Given the description of an element on the screen output the (x, y) to click on. 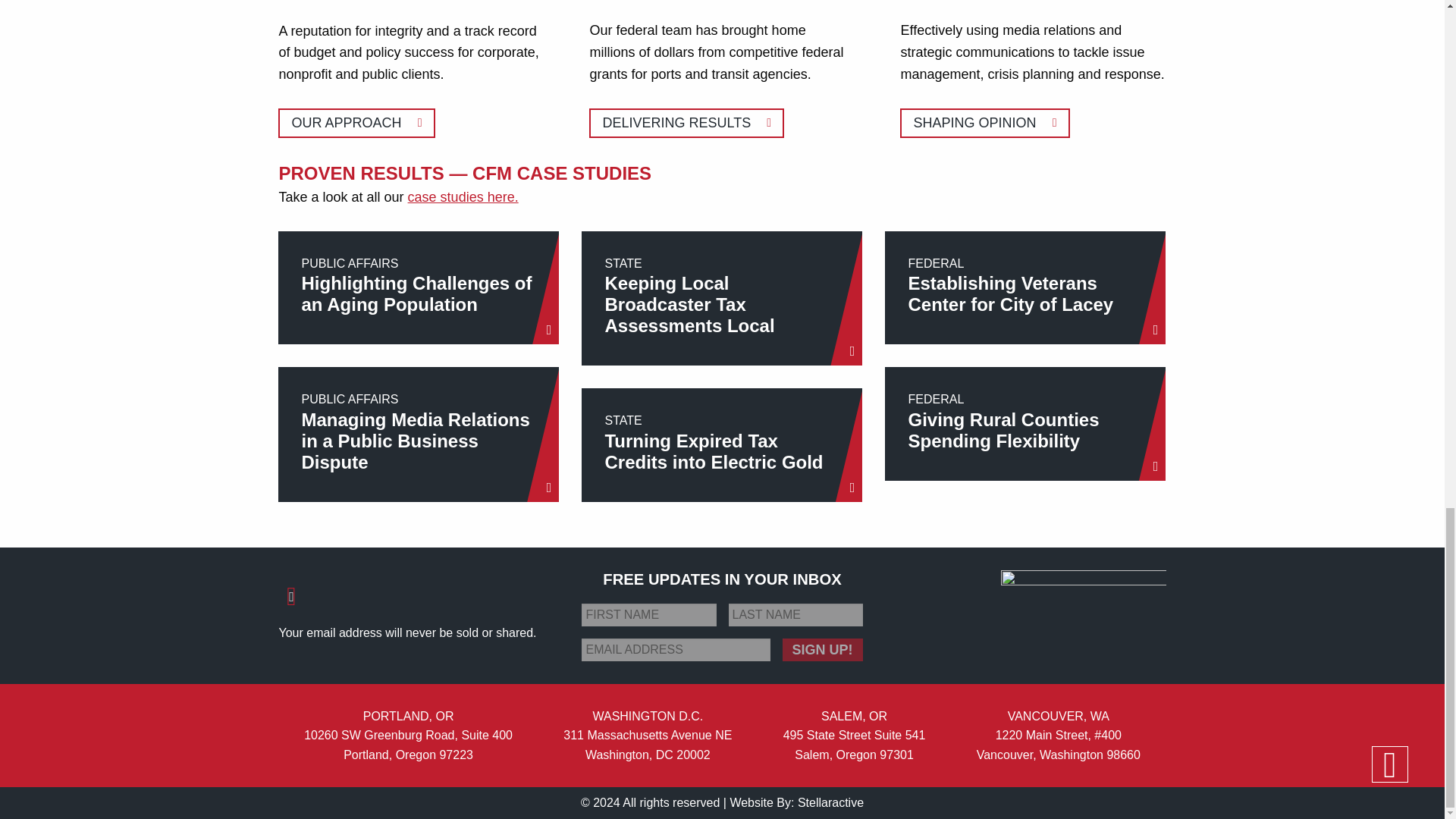
State Affairs (355, 123)
Public Affairs (983, 123)
SHAPING OPINION (983, 123)
Federal Affairs (720, 298)
case studies here. (686, 123)
DELIVERING RESULTS (462, 196)
